Given the description of an element on the screen output the (x, y) to click on. 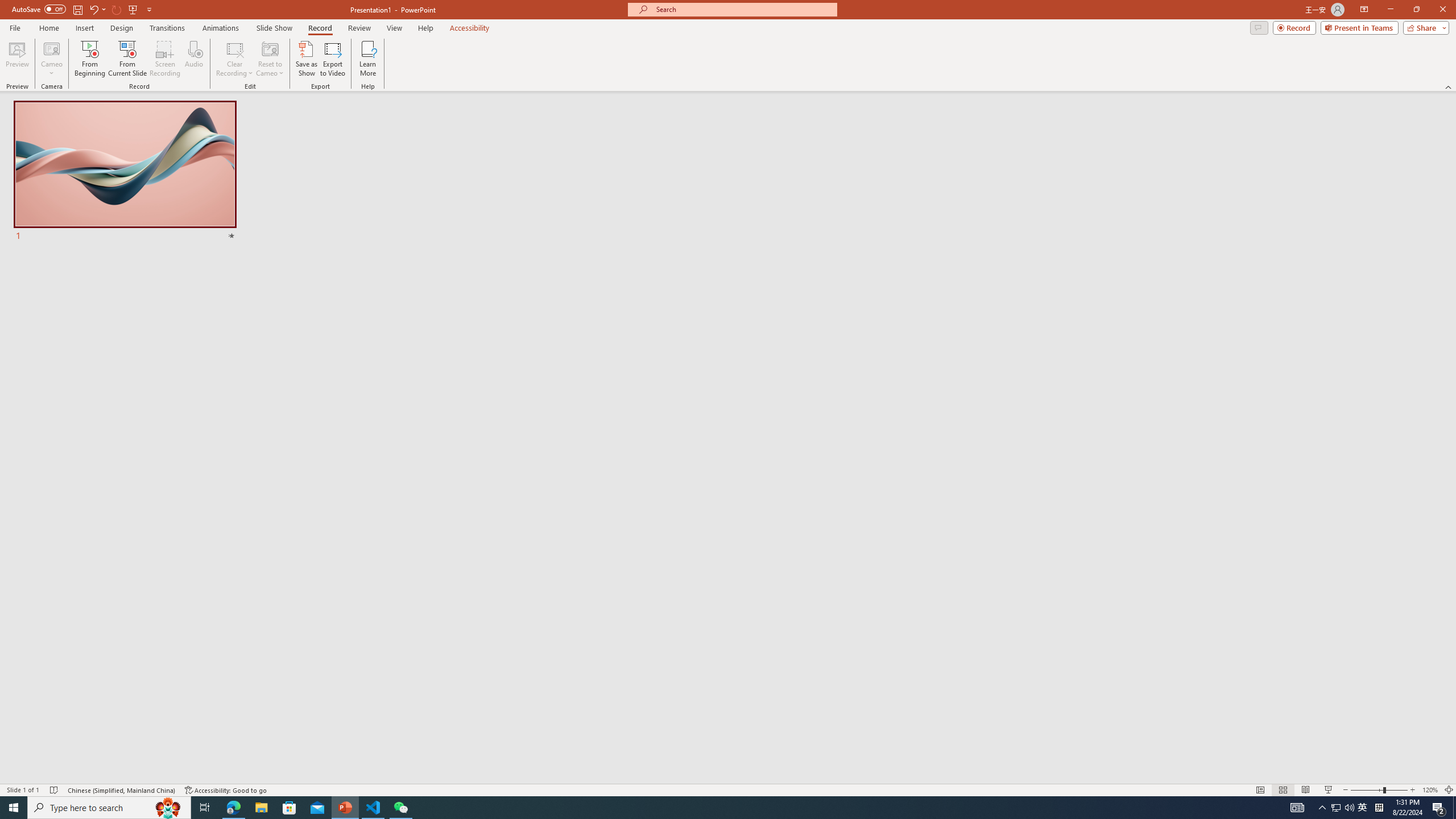
Zoom 120% (1430, 790)
